Given the description of an element on the screen output the (x, y) to click on. 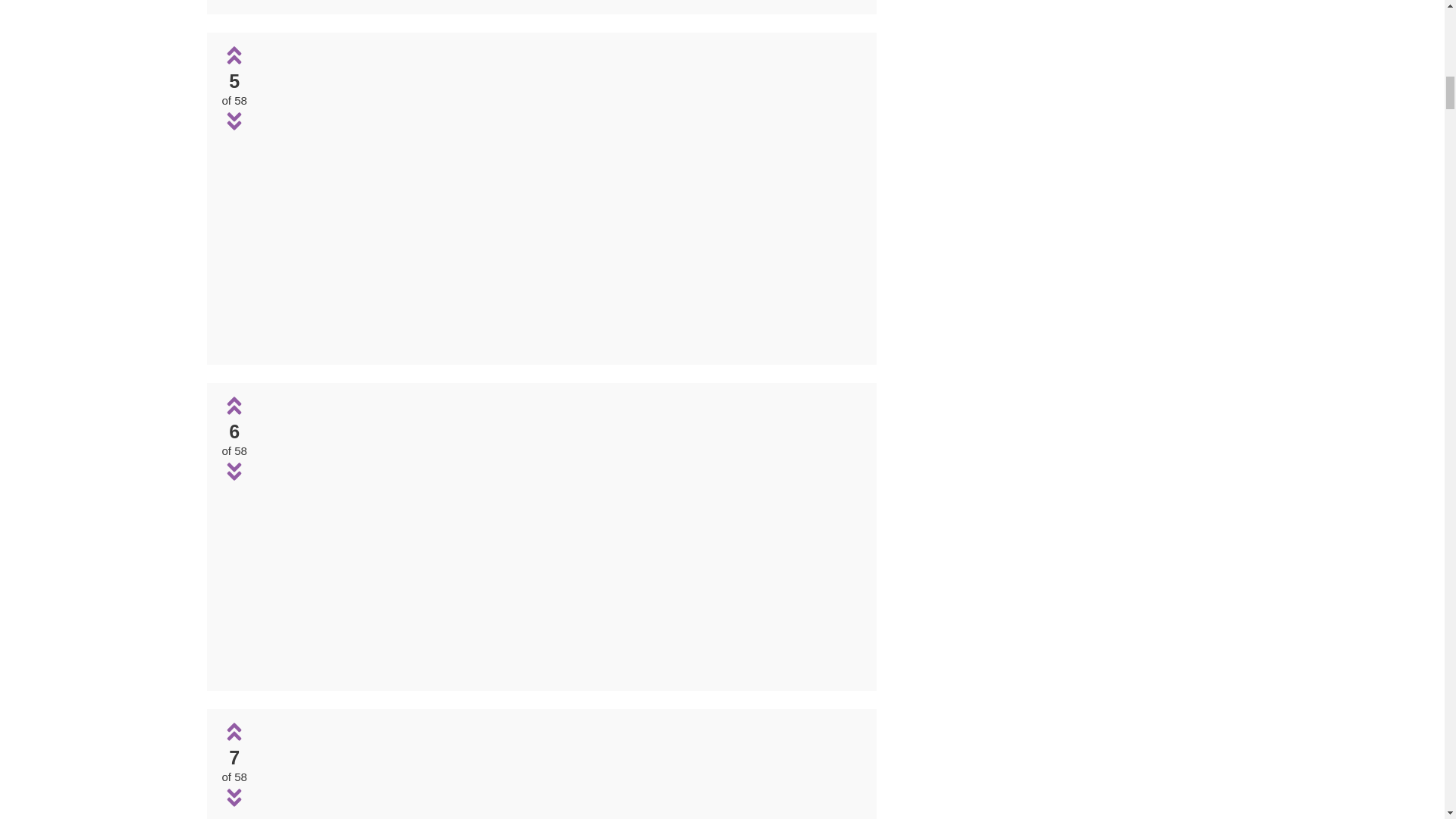
Cool Ideas For Cat Themed Room Design (559, 196)
Cool Ideas For Cat Themed Room Design (559, 769)
Cool Ideas For Cat Themed Room Design (559, 533)
Cool Ideas For Cat Themed Room Design (559, 343)
Cool Ideas For Cat Themed Room Design (559, 669)
